Given the description of an element on the screen output the (x, y) to click on. 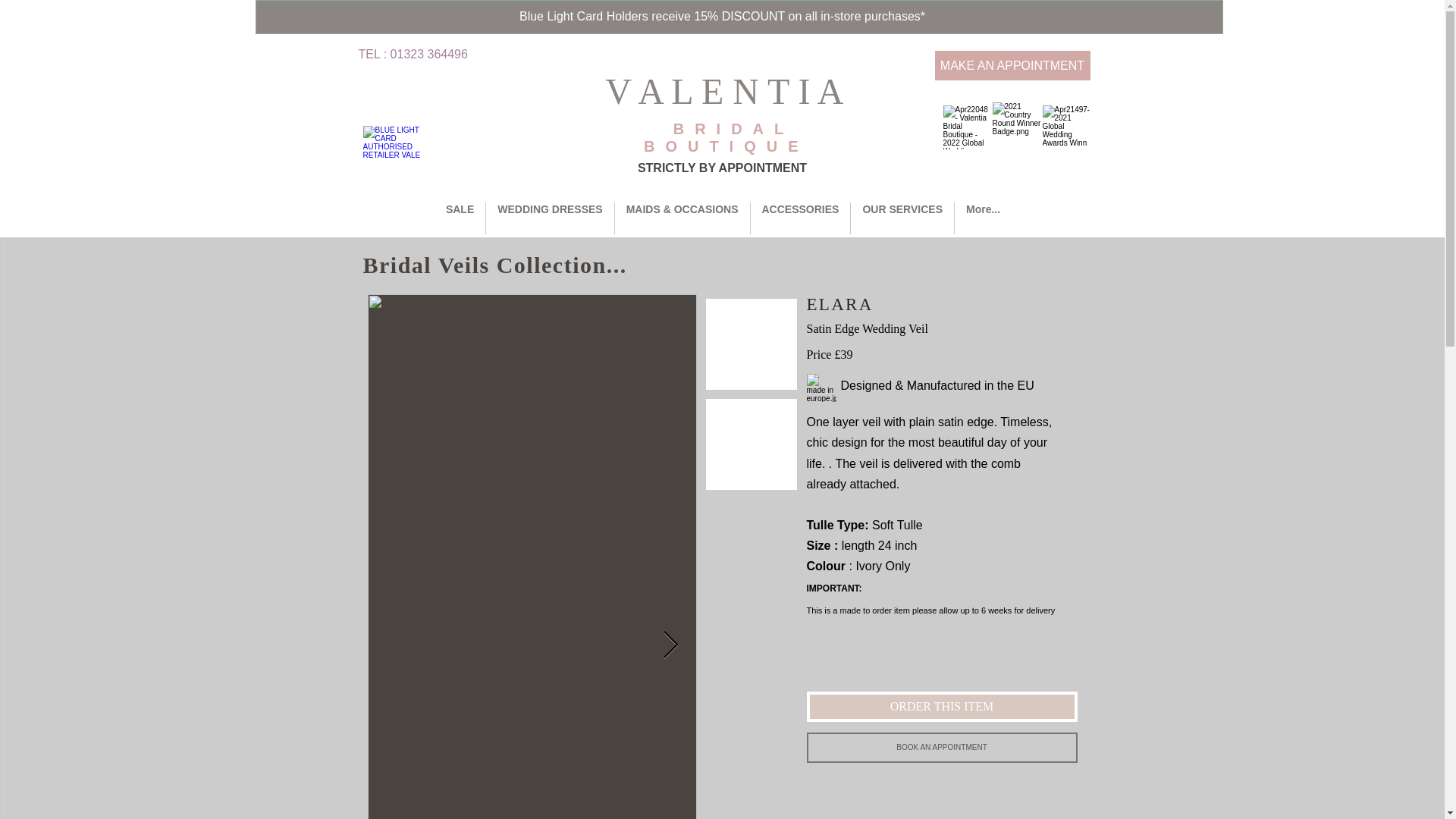
OUR SERVICES (901, 218)
V A L E N T I A  (727, 91)
Pin to Pinterest (831, 789)
SALE (458, 218)
MAKE AN APPOINTMENT (1011, 65)
WEDDING DRESSES (549, 218)
ORDER THIS ITEM (941, 706)
ACCESSORIES (800, 218)
BOOK AN APPOINTMENT (941, 747)
